Given the description of an element on the screen output the (x, y) to click on. 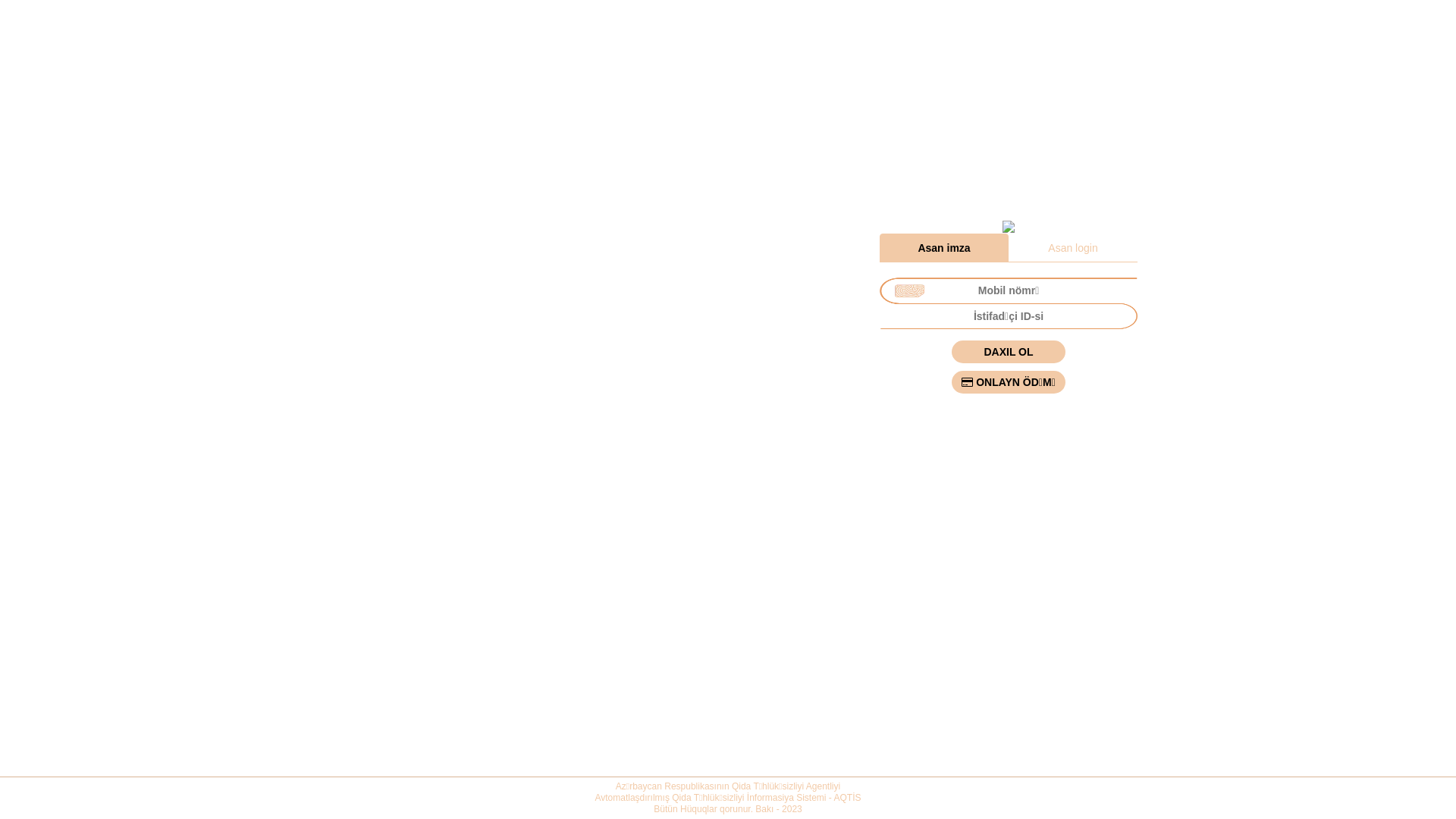
Asan imza Element type: text (943, 247)
Asan login Element type: text (1072, 247)
DAXIL OL Element type: text (1008, 351)
